Given the description of an element on the screen output the (x, y) to click on. 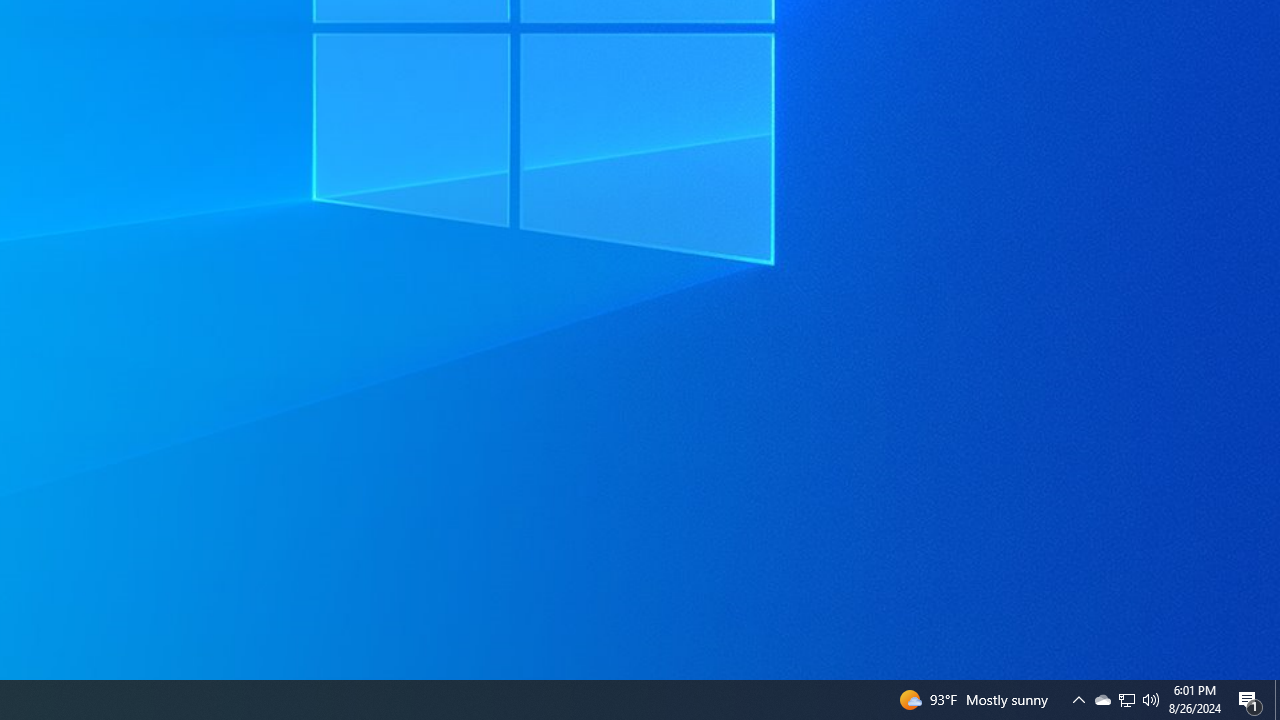
Show desktop (1277, 699)
User Promoted Notification Area (1126, 699)
Notification Chevron (1078, 699)
Action Center, 1 new notification (1126, 699)
Q2790: 100% (1102, 699)
